Given the description of an element on the screen output the (x, y) to click on. 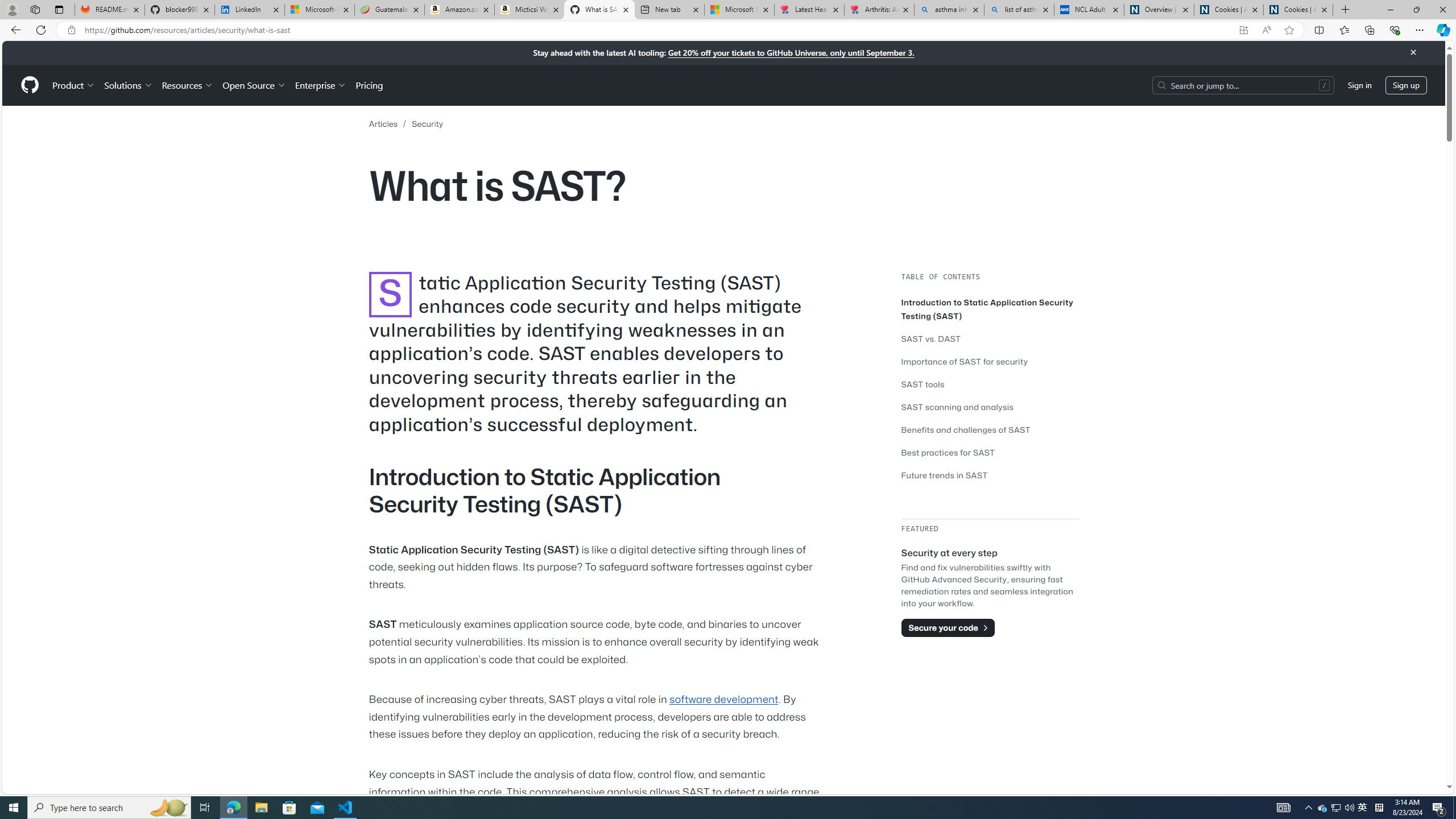
Best practices for SAST (989, 452)
App available. Install GitHub (1243, 29)
Open Source (254, 84)
Sign up (1406, 84)
SAST scanning and analysis (989, 406)
Future trends in SAST (944, 474)
Secure your code (947, 627)
Open Source (254, 84)
Product (74, 84)
Solutions (128, 84)
